Given the description of an element on the screen output the (x, y) to click on. 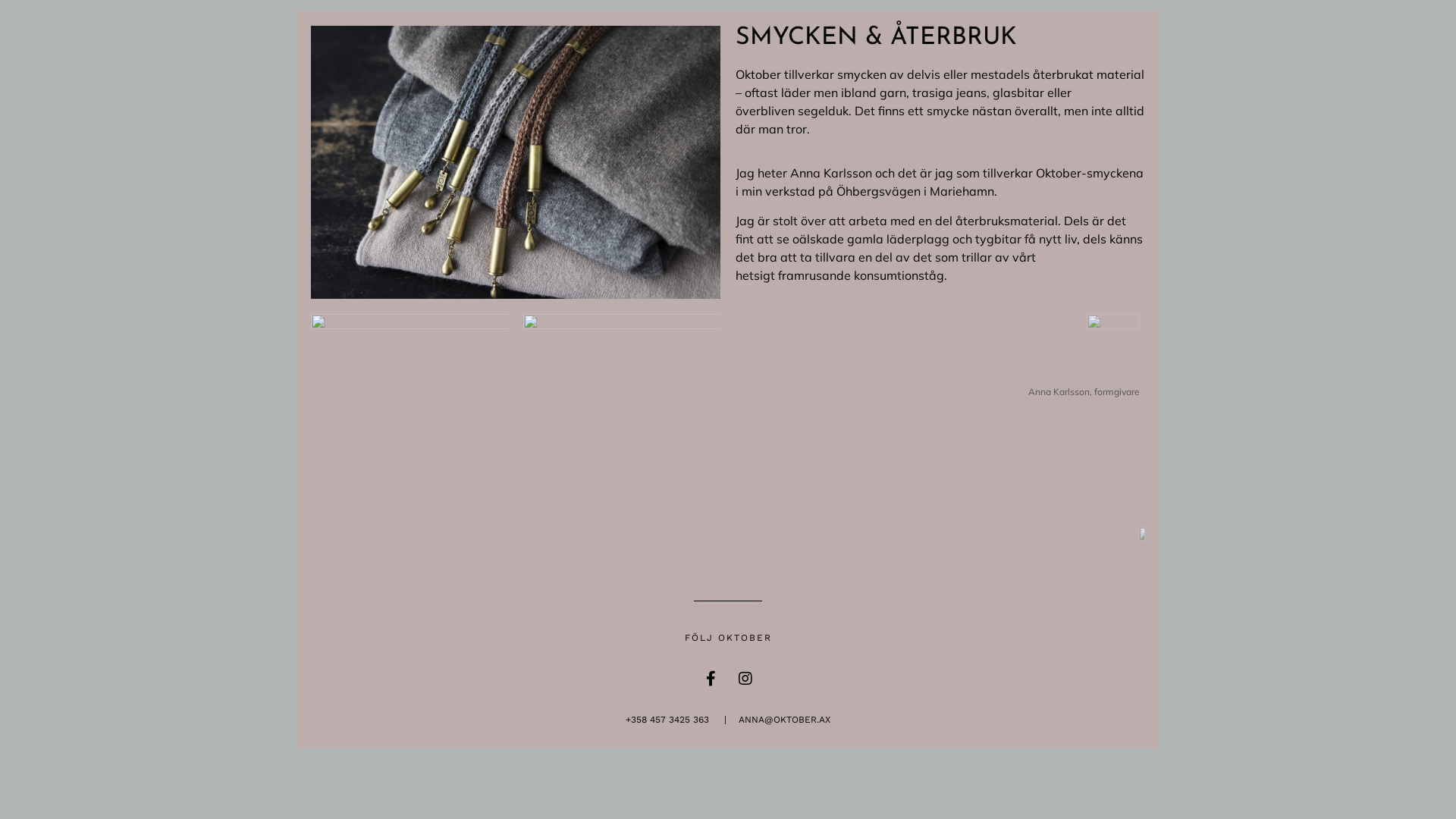
ANNA@OKTOBER.AX Element type: text (784, 719)
+358 457 3425 363 Element type: text (667, 719)
